Given the description of an element on the screen output the (x, y) to click on. 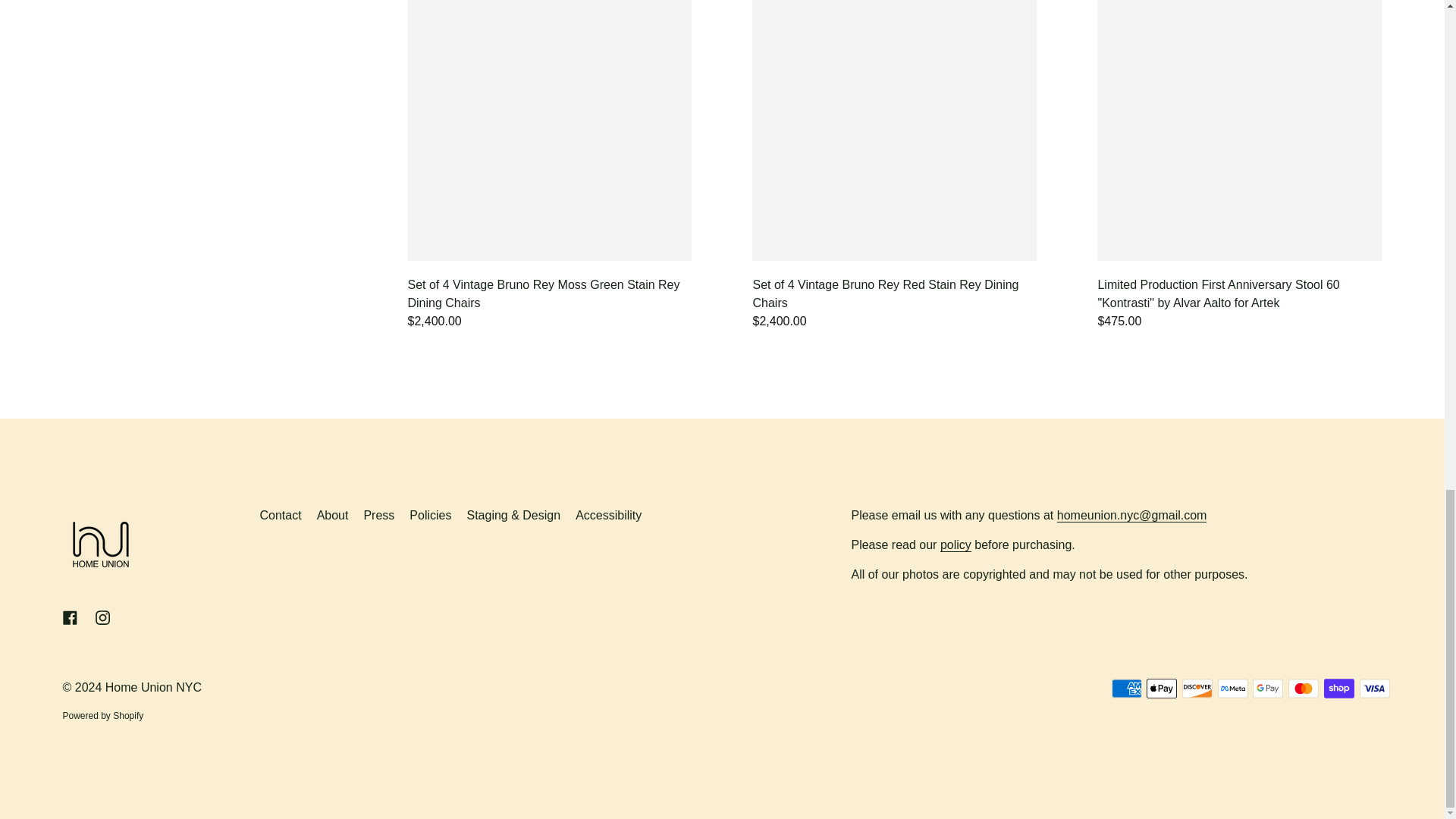
Mastercard (1303, 688)
Discover (1197, 688)
Home Union NYC on Facebook (69, 617)
Meta Pay (1232, 688)
Google Pay (1267, 688)
Home Union NYC on Instagram (102, 617)
Store Policies (955, 545)
Shop Pay (1338, 688)
Visa (1373, 688)
American Express (1126, 688)
